Given the description of an element on the screen output the (x, y) to click on. 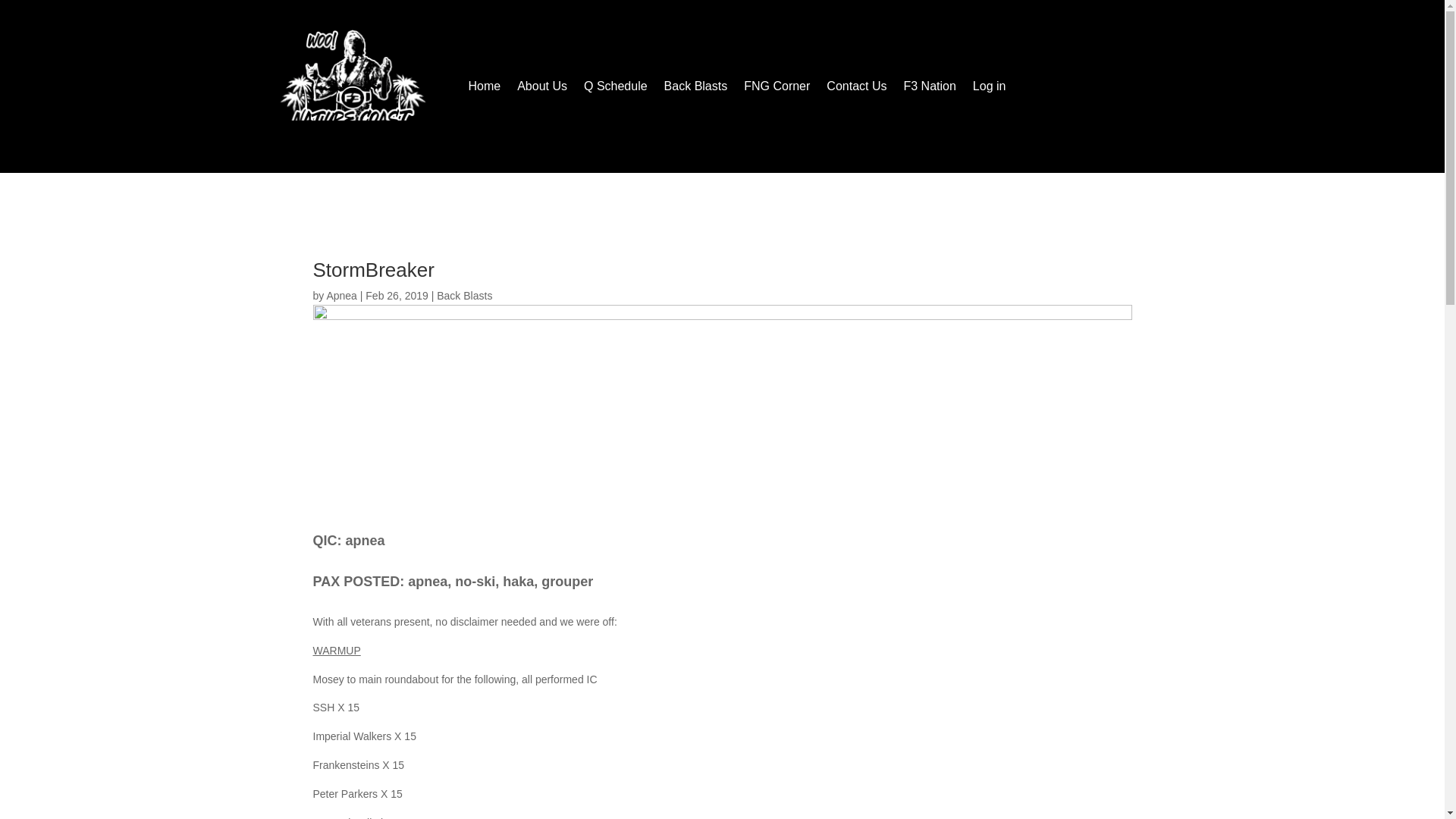
Posts by Apnea (341, 295)
Back Blasts (464, 295)
Apnea (341, 295)
